Given the description of an element on the screen output the (x, y) to click on. 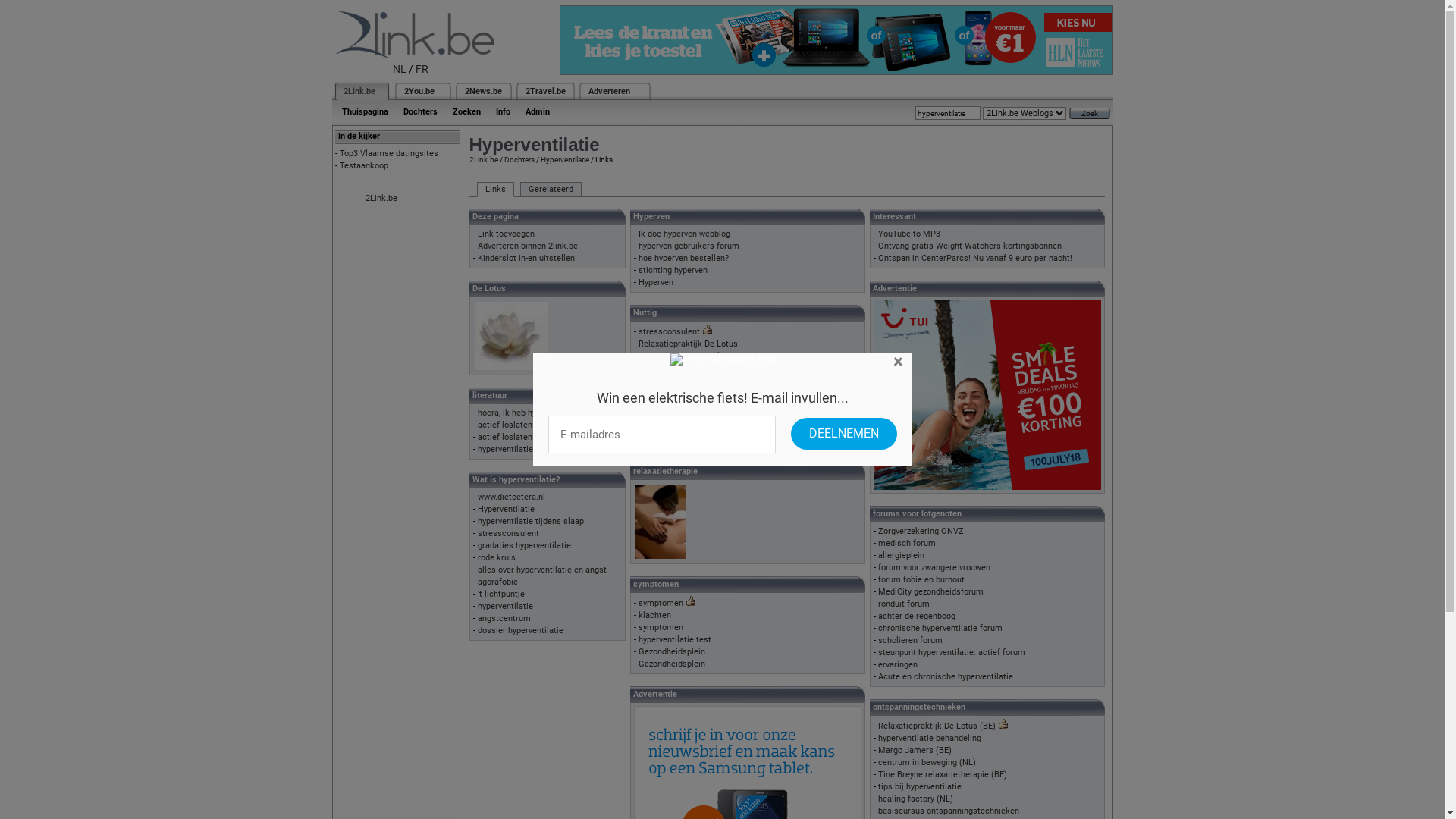
2You.be Element type: text (418, 91)
achter de regenboog Element type: text (916, 616)
YouTube to MP3 Element type: text (909, 233)
2Link.be Element type: text (482, 159)
Zoeken Element type: text (465, 111)
Zoek Element type: text (1089, 113)
hyperventilatie behandeling Element type: text (929, 738)
forum fobie en burnout Element type: text (921, 579)
Ontvang gratis Weight Watchers kortingsbonnen Element type: text (969, 246)
Thuispagina Element type: text (364, 111)
Top3 Vlaamse datingsites Element type: text (388, 153)
Zorgverzekering National Academic Element type: text (705, 428)
Testaankoop Element type: text (363, 165)
dossier hyperventilatie Element type: text (520, 630)
Haptonomie Element type: text (661, 404)
Opleiding Medisch Secretaresse Element type: text (700, 440)
steunpunt hyperventilatie: actief forum Element type: text (951, 652)
tips bij hyperventilatie Element type: text (919, 786)
stressconsulent Element type: text (508, 533)
ronduit forum Element type: text (903, 603)
Adverteren Element type: text (609, 91)
centrum in beweging (NL) Element type: text (926, 762)
Acute en chronische hyperventilatie Element type: text (945, 676)
2News.be Element type: text (482, 91)
hoe hyperven bestellen? Element type: text (683, 258)
agorafobie Element type: text (497, 581)
Dochters Element type: text (518, 159)
Margo Jamers (BE) Element type: text (914, 750)
symptomen Element type: text (660, 627)
FR Element type: text (421, 68)
medisch forum Element type: text (906, 543)
Link toevoegen Element type: text (505, 233)
Admin Element type: text (536, 111)
Angst Element type: text (649, 380)
Hyperventilatie Element type: text (563, 159)
Ik doe hyperven webblog Element type: text (684, 233)
hyperventilatie tijdens slaap Element type: text (530, 521)
Dochters Element type: text (420, 111)
NL Element type: text (399, 68)
allergieplein Element type: text (901, 555)
Nederlandse hyperventilatiestichting Element type: text (707, 368)
2Link.be Element type: text (358, 91)
Hyperventilatie Element type: text (505, 509)
MediCity gezondheidsforum Element type: text (930, 591)
stressconsulent Element type: text (668, 331)
2Link.be Element type: text (381, 198)
Kinderslot in-en uitstellen Element type: text (525, 258)
forum voor zwangere vrouwen Element type: text (934, 567)
alles over hyperventilatie en angst Element type: text (541, 569)
Info Element type: text (502, 111)
stichting hyperven Element type: text (672, 270)
angstcentrum Element type: text (503, 618)
basiscursus ontspanningstechnieken Element type: text (948, 810)
healing factory (NL) Element type: text (915, 798)
Relaxatiepraktijk De Lotus Element type: text (687, 343)
actief loslaten Element type: text (504, 424)
hyperven gebruikers forum Element type: text (688, 246)
hyperventilatie test Element type: text (674, 639)
hyperventilatie ontmaskerd Element type: text (528, 449)
Ontspan in CenterParcs! Nu vanaf 9 euro per nacht! Element type: text (975, 258)
Zorgverzekering OHRA Element type: text (681, 392)
Hyperven Element type: text (655, 282)
Gezondheidsplein Element type: text (671, 663)
't lichtpuntje Element type: text (500, 594)
www.dietcetera.nl Element type: text (511, 497)
rode kruis Element type: text (496, 557)
Zorgverzekering ONVZ Element type: text (920, 531)
Zorgverzekering UnitedConsumers Element type: text (703, 416)
hyperventilatie Element type: text (505, 606)
Gerelateerd Element type: text (550, 189)
klachten Element type: text (654, 615)
Adverteren binnen 2link.be Element type: text (527, 246)
symptomen Element type: text (660, 603)
actief loslaten Element type: text (504, 437)
Relaxatiepraktijk De Lotus (BE) Element type: text (936, 726)
steunpunt hyperventilatie Element type: text (686, 355)
Gezondheidsplein Element type: text (671, 651)
chronische hyperventilatie forum Element type: text (940, 628)
gradaties hyperventilatie Element type: text (524, 545)
ervaringen Element type: text (897, 664)
2Travel.be Element type: text (544, 91)
Tine Breyne relaxatietherapie (BE) Element type: text (942, 774)
Links Element type: text (494, 189)
hoera, ik heb hyperventilatie Element type: text (530, 412)
scholieren forum Element type: text (910, 640)
